Given the description of an element on the screen output the (x, y) to click on. 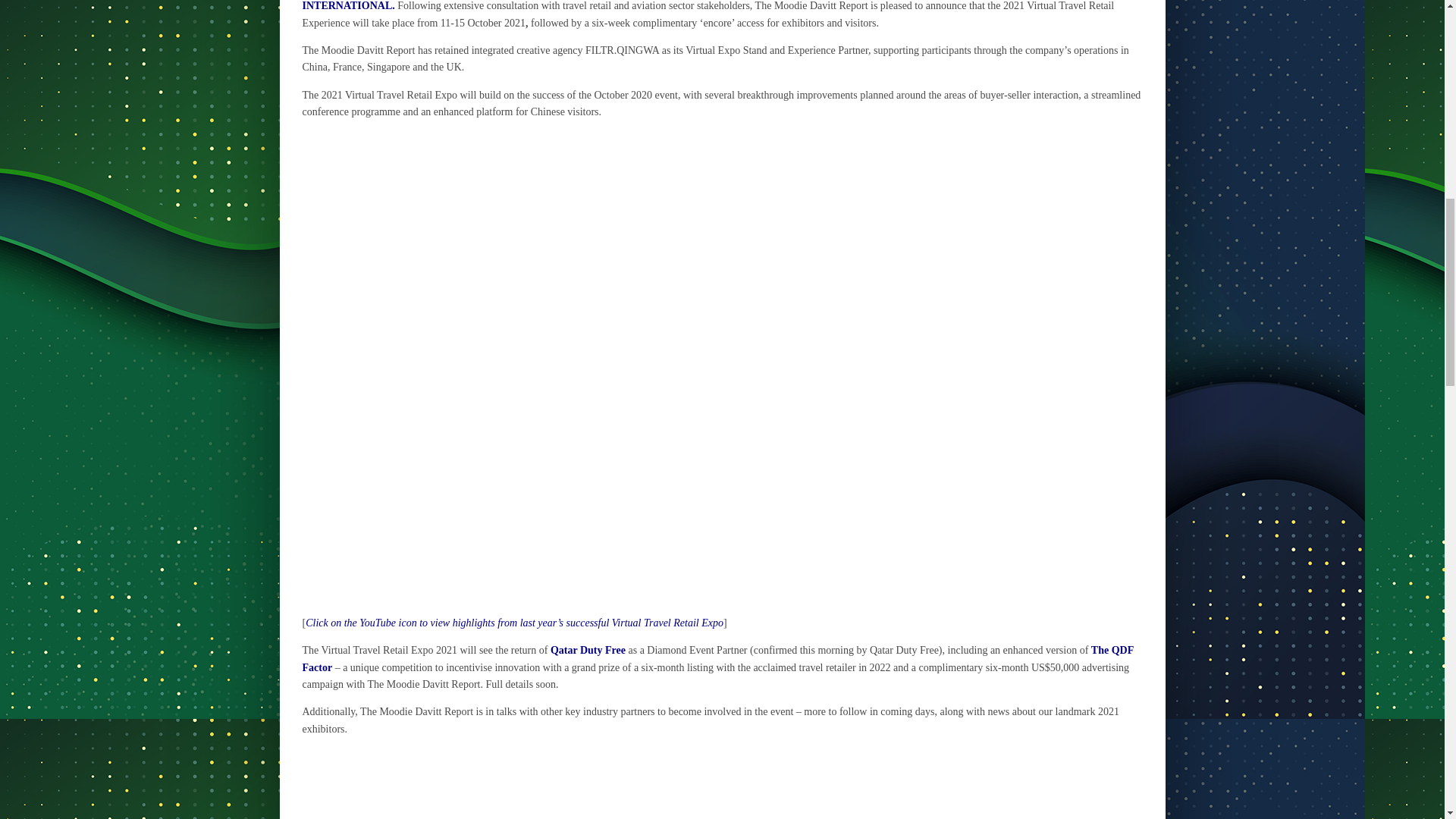
The QDF Factor - The Big Reveal (721, 783)
